Given the description of an element on the screen output the (x, y) to click on. 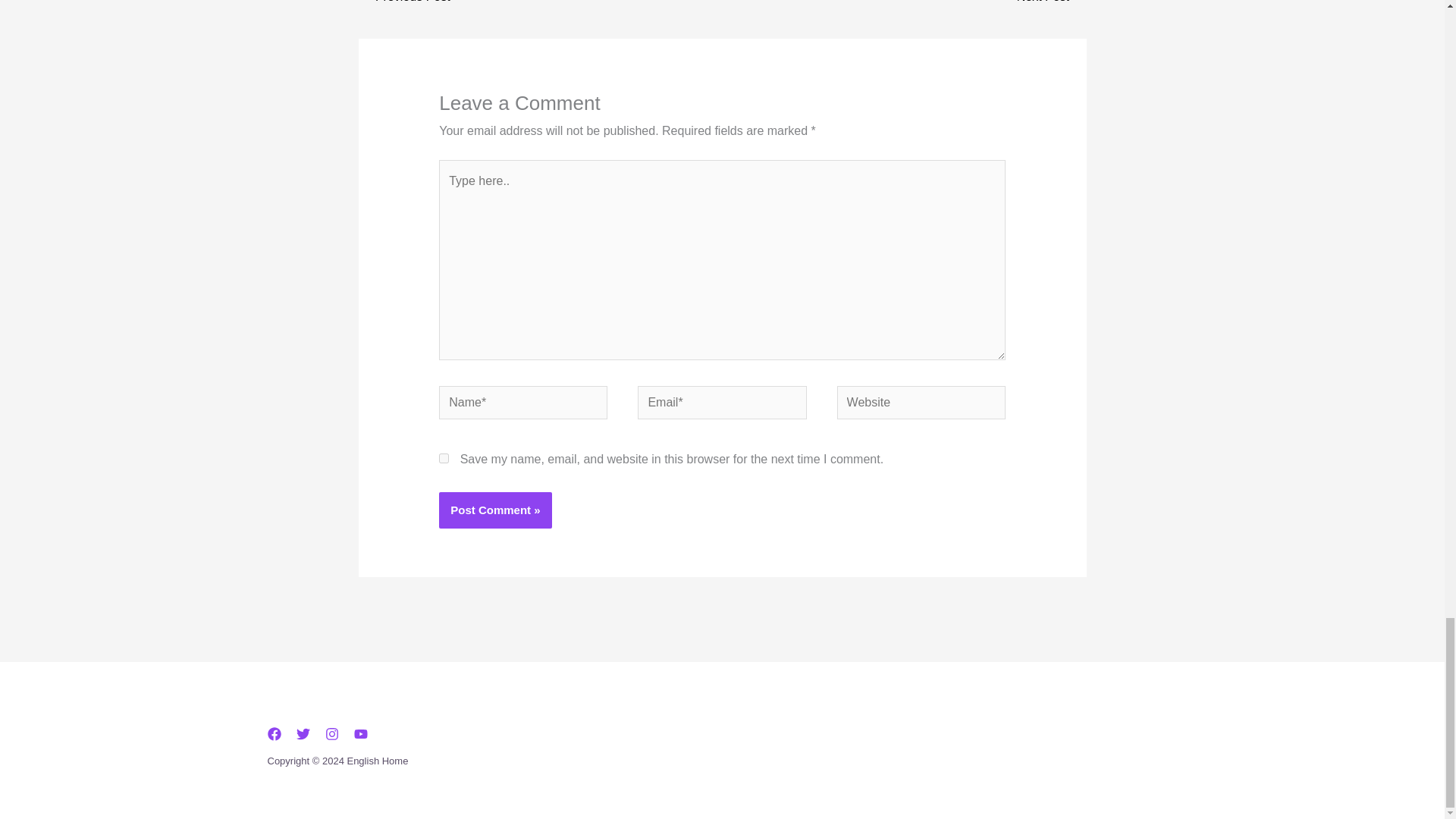
yes (443, 458)
